Given the description of an element on the screen output the (x, y) to click on. 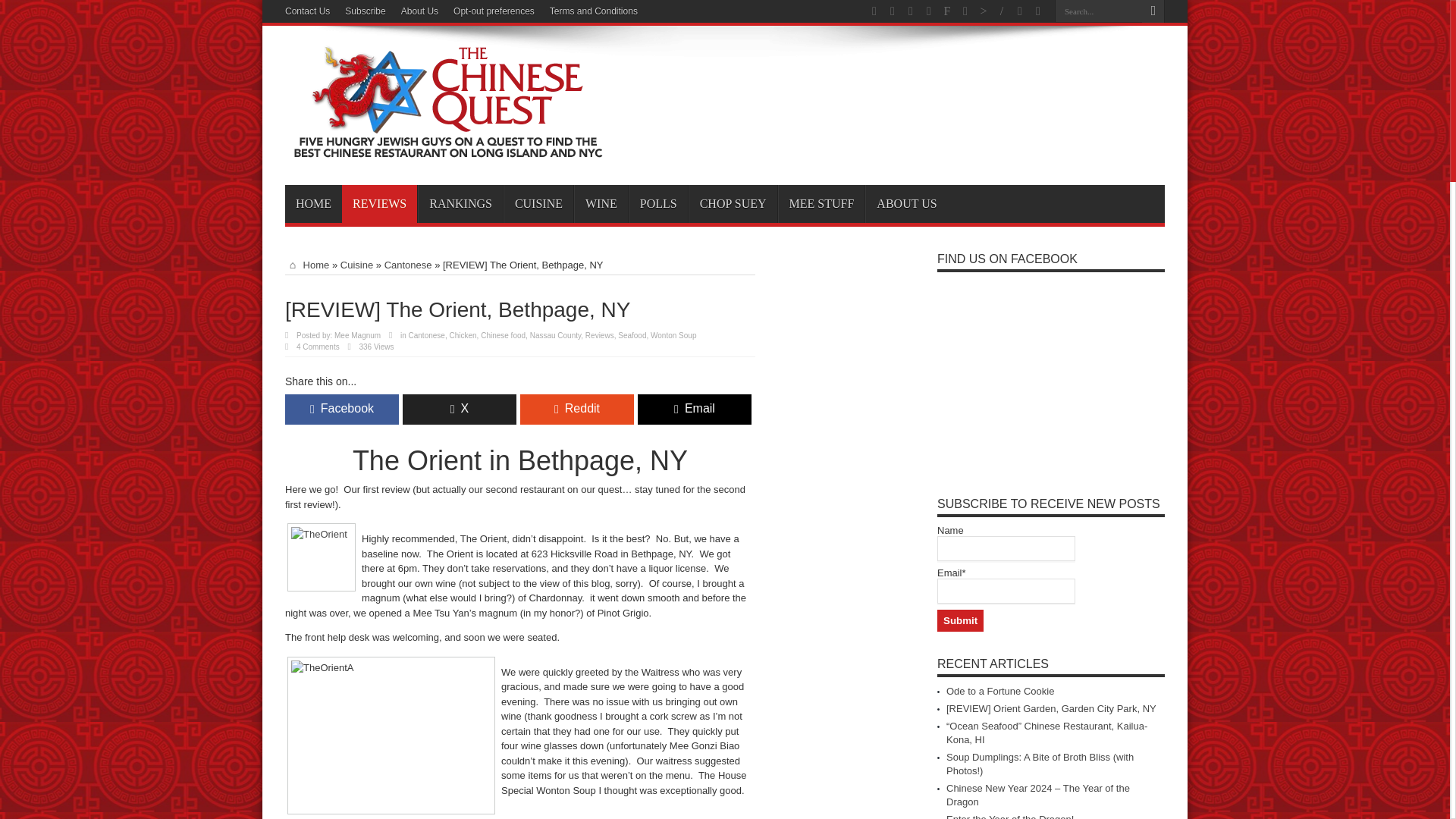
CUISINE (538, 203)
The Chinese Quest (448, 146)
REVIEWS (379, 203)
Search (1152, 11)
Contact Us (307, 11)
Search... (1097, 11)
Submit (960, 620)
RANKINGS (459, 203)
Opt-out preferences (493, 11)
Subscribe (365, 11)
